Given the description of an element on the screen output the (x, y) to click on. 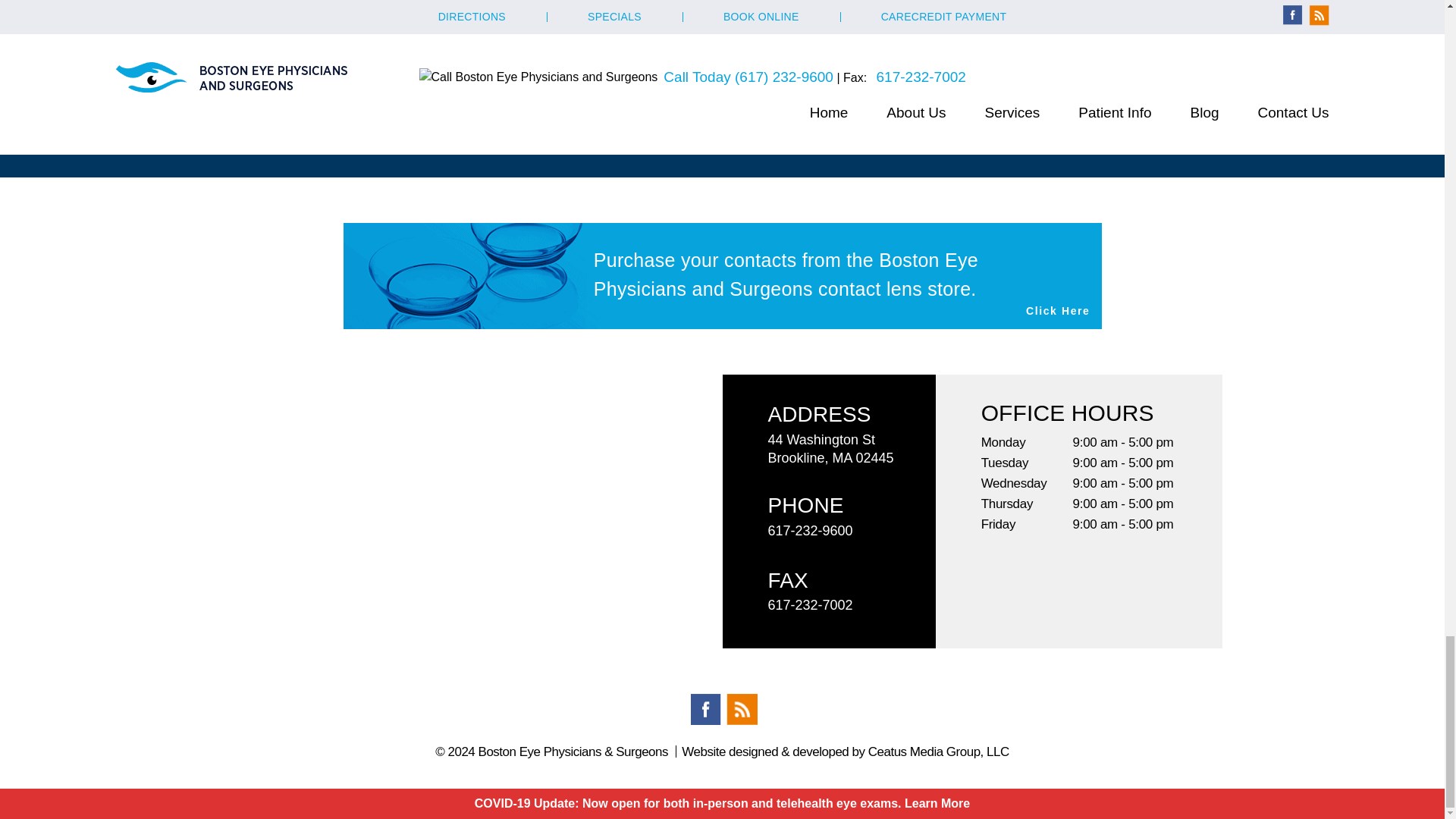
Send Message (722, 82)
